Given the description of an element on the screen output the (x, y) to click on. 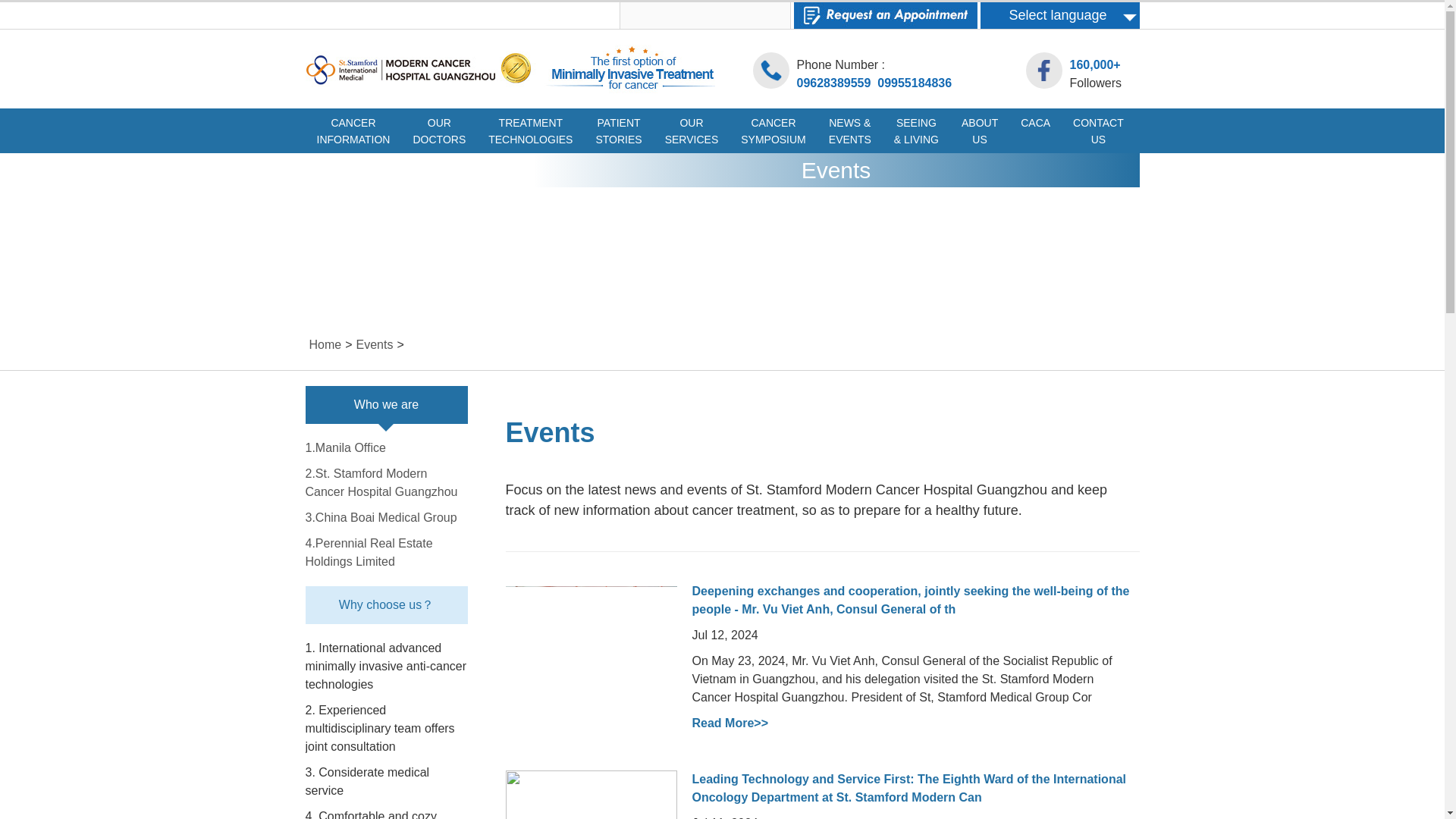
   Select language (530, 128)
